Given the description of an element on the screen output the (x, y) to click on. 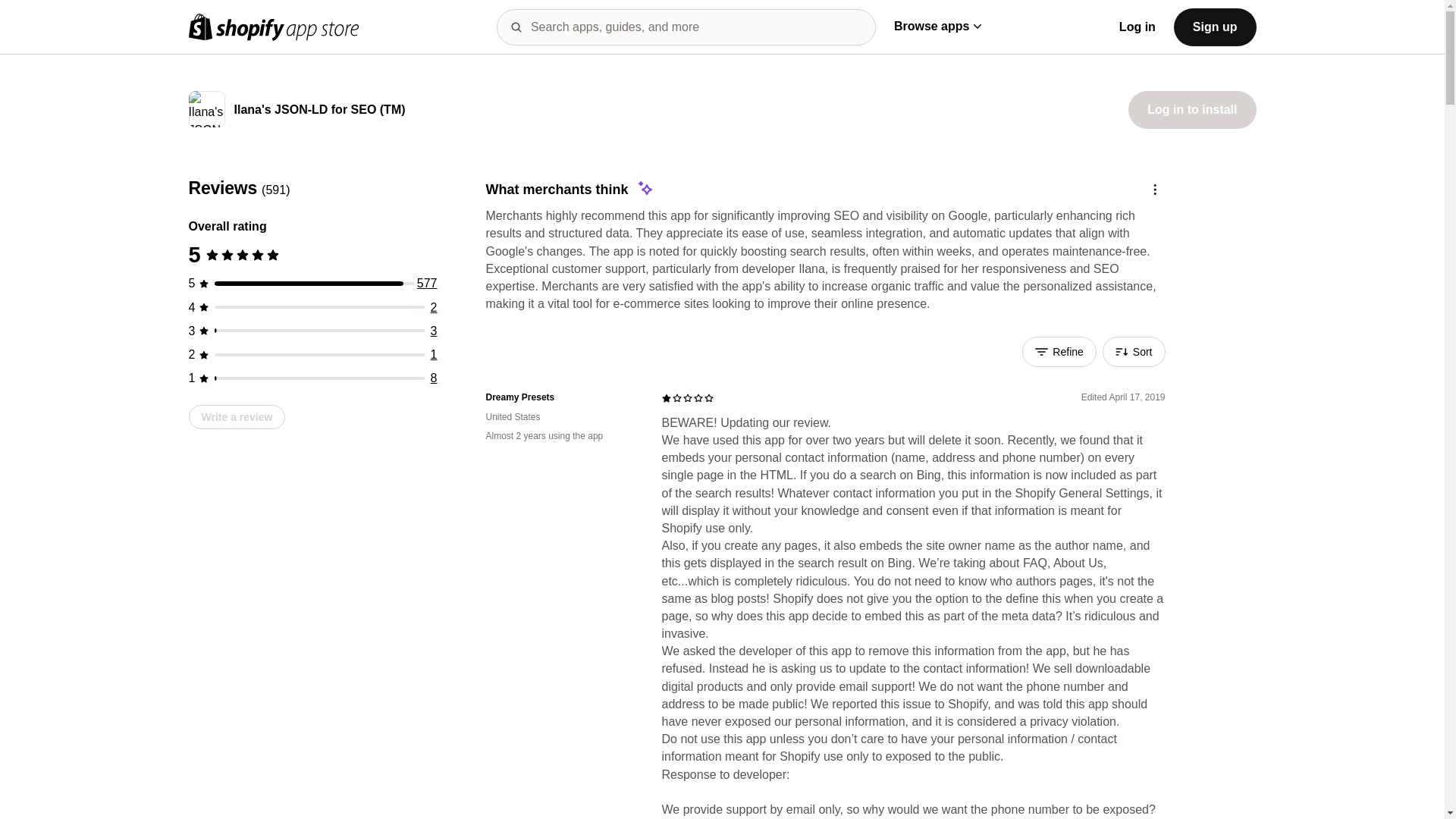
577 (427, 282)
Write a review (236, 416)
Log in to install (1191, 109)
Sign up (1214, 26)
Dreamy Presets (560, 397)
Log in (1137, 27)
Browse apps (937, 26)
